Given the description of an element on the screen output the (x, y) to click on. 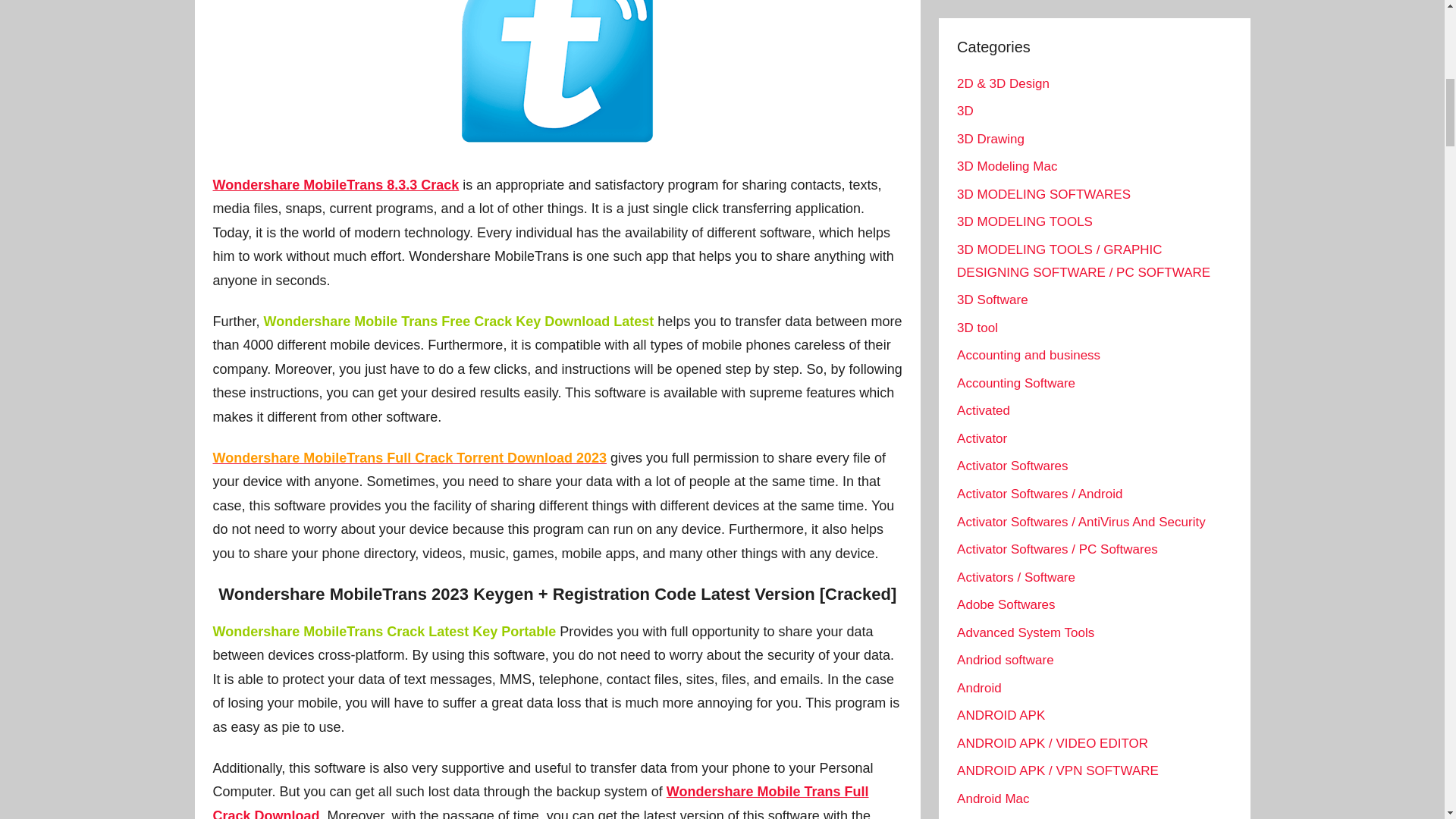
Wondershare MobileTrans 8.3.3 Crack (335, 184)
Wondershare Mobile Trans Full Crack Download. (539, 801)
Wondershare MobileTrans Full Crack Torrent Download 2023 (408, 458)
